Given the description of an element on the screen output the (x, y) to click on. 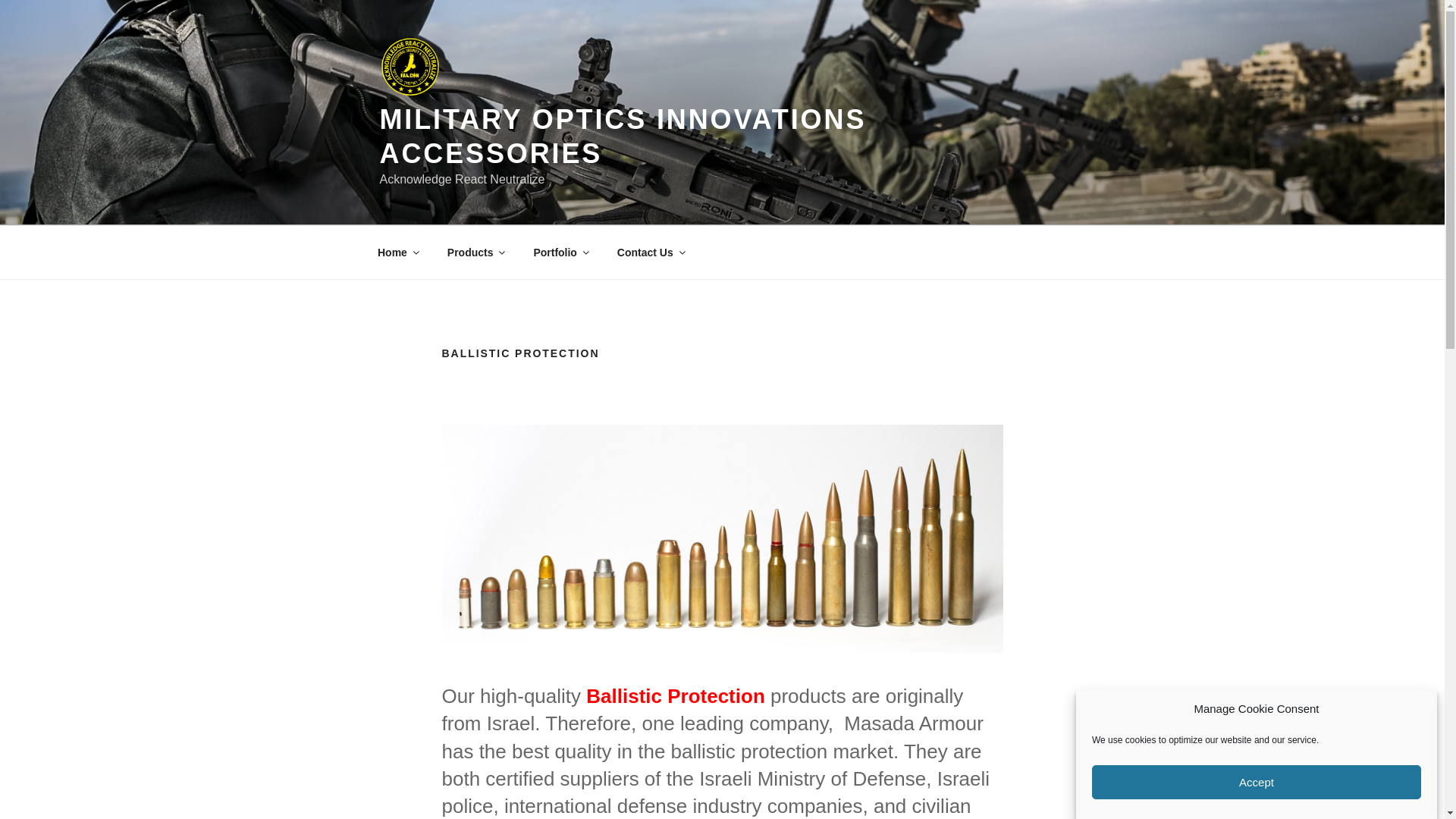
Accept (1256, 788)
Ballistic Protection (722, 538)
Home (397, 252)
MILITARY OPTICS INNOVATIONS ACCESSORIES (622, 136)
Products (474, 252)
